Given the description of an element on the screen output the (x, y) to click on. 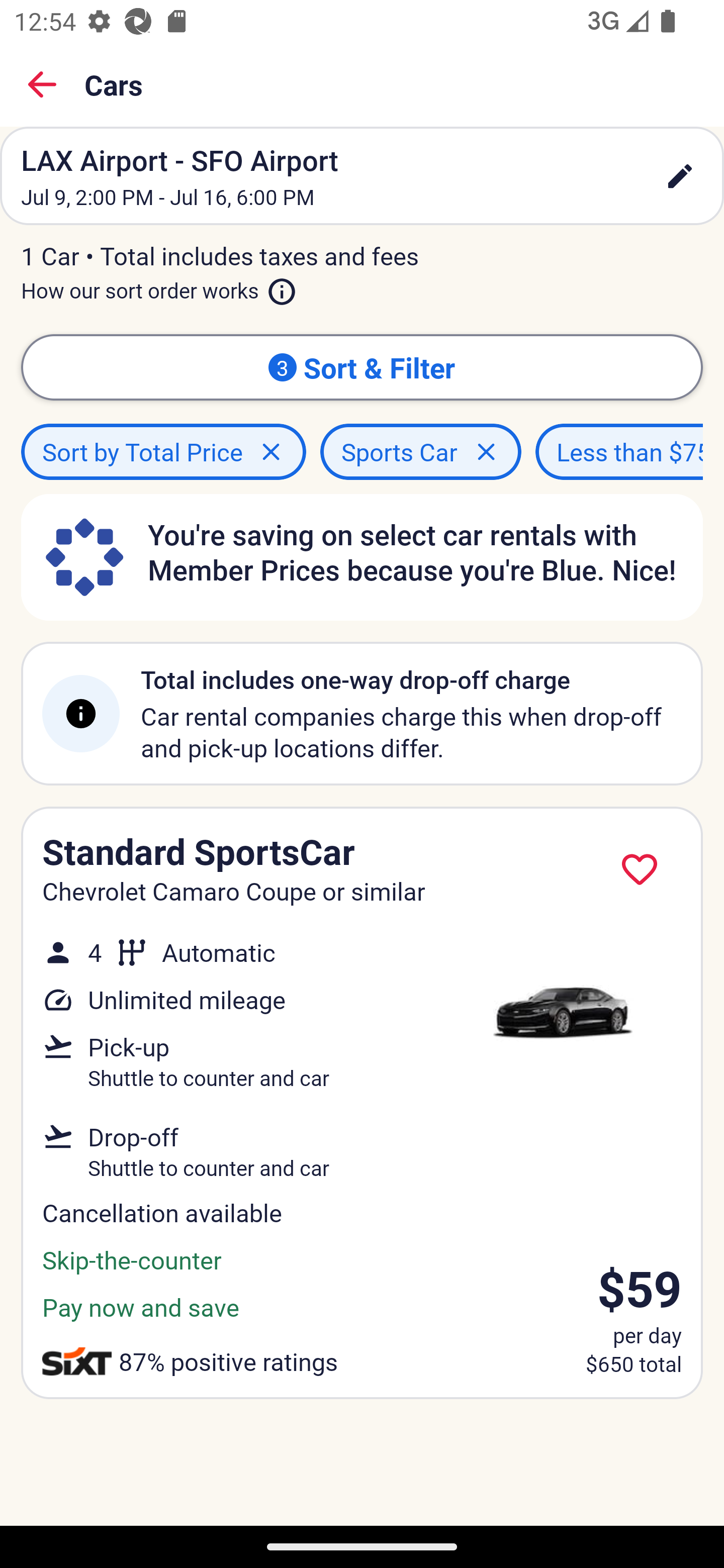
Back (42, 84)
edit (679, 175)
How our sort order works (158, 286)
3 Sort & Filter (361, 366)
